Given the description of an element on the screen output the (x, y) to click on. 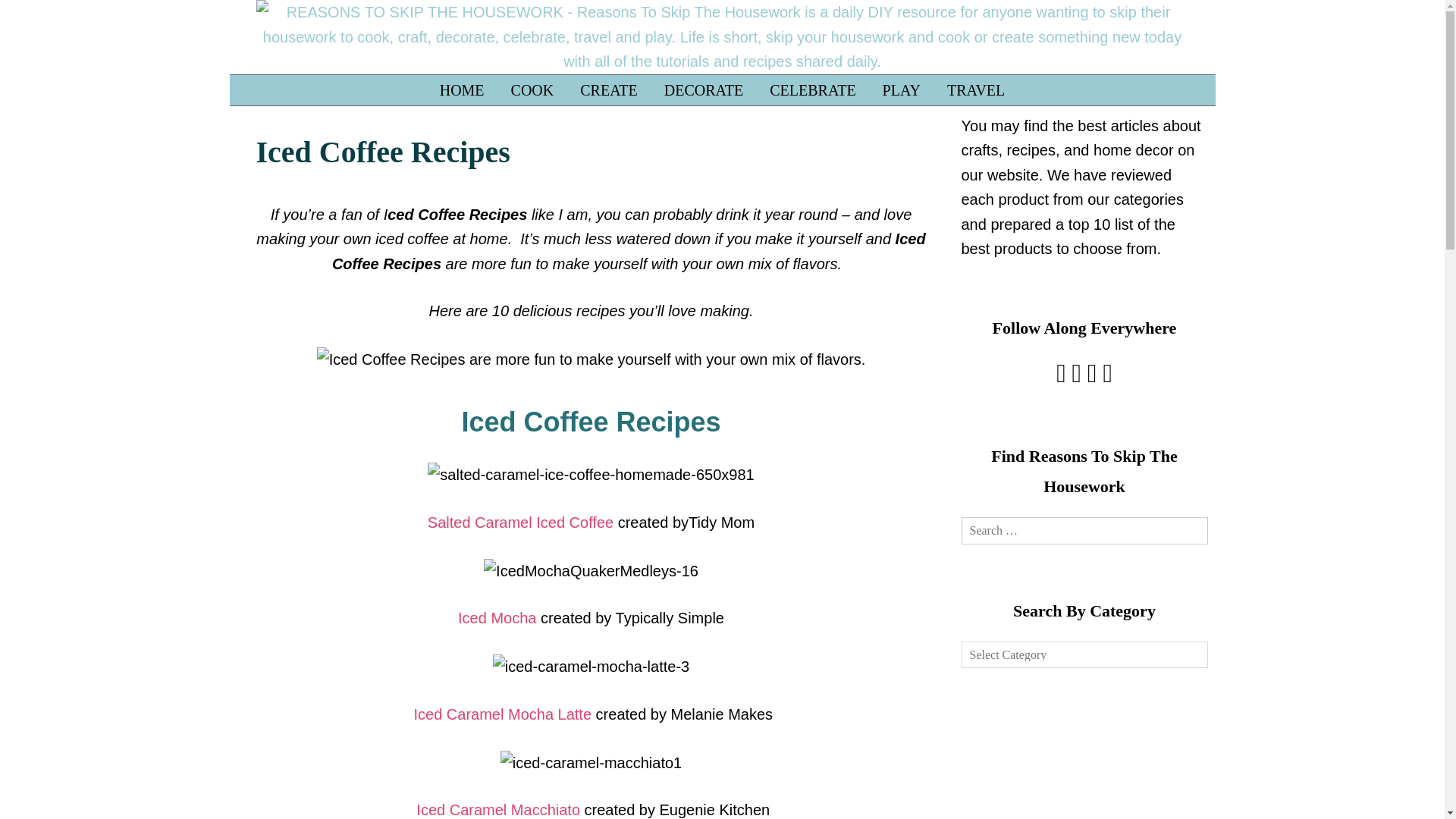
TRAVEL (976, 89)
SKIP TO CONTENT (266, 81)
CREATE (609, 89)
DECORATE (703, 89)
HOME (462, 89)
PLAY (900, 89)
Iced Caramel Mocha Latte (502, 713)
Iced Caramel Macchiato (497, 809)
CELEBRATE (812, 89)
Iced Mocha (496, 617)
Salted Caramel Iced Coffee (520, 522)
COOK (532, 89)
